Given the description of an element on the screen output the (x, y) to click on. 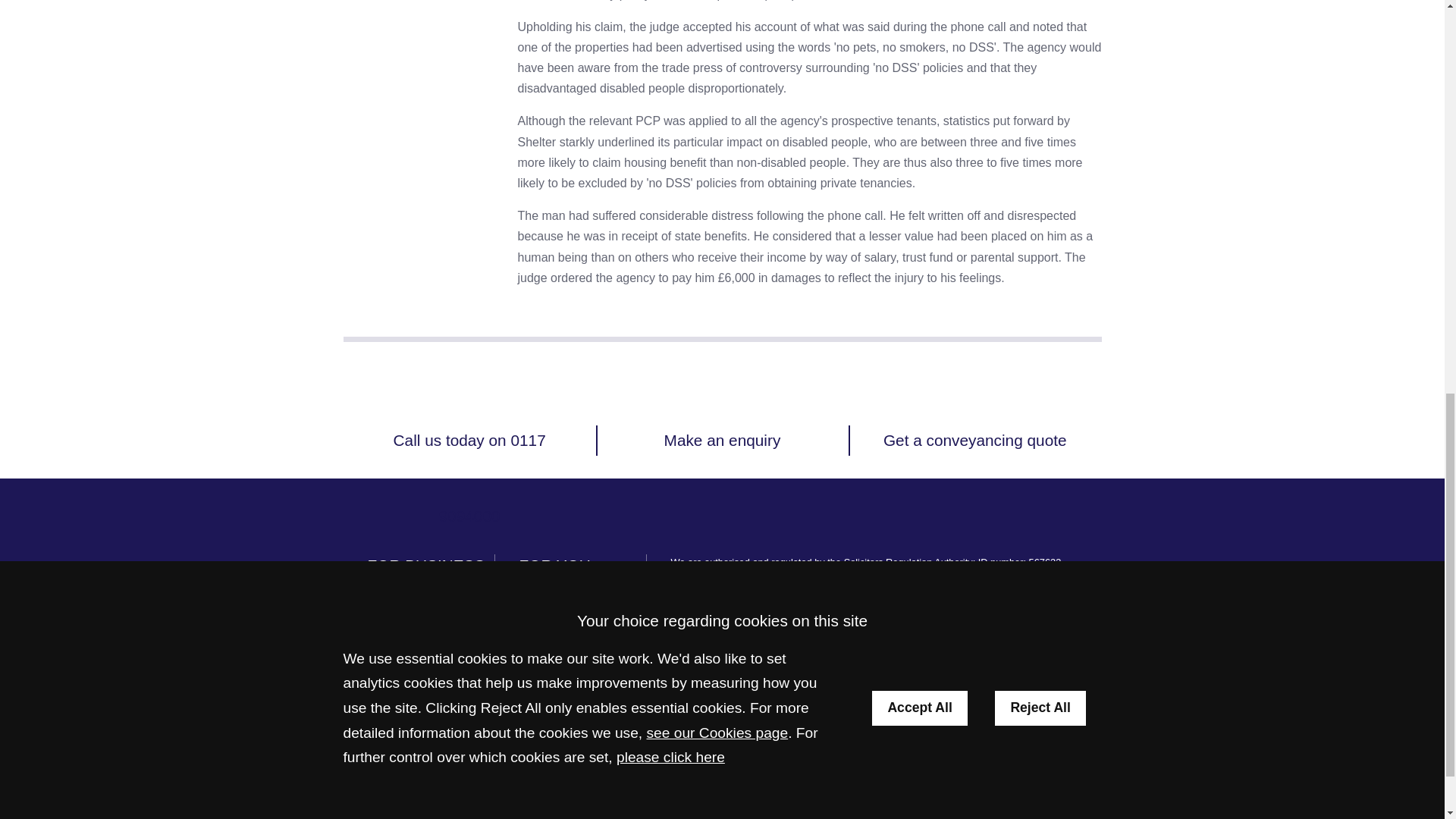
Get a conveyancing quote (975, 439)
Make an enquiry (721, 439)
Call us today on 0117 9094000 (469, 477)
